Given the description of an element on the screen output the (x, y) to click on. 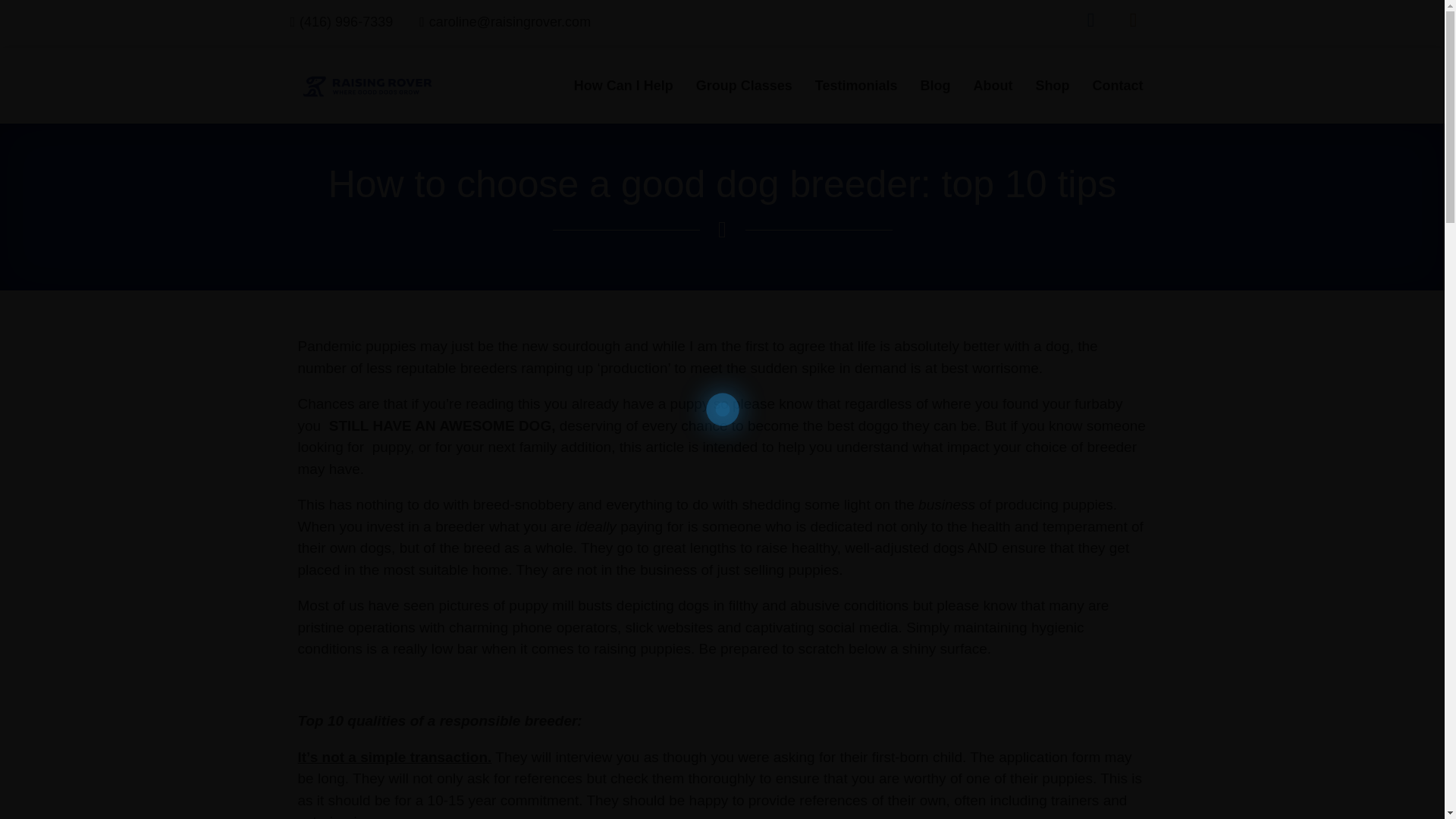
Shop (1051, 85)
Group Classes (743, 85)
How Can I Help (623, 85)
About (991, 85)
Testimonials (855, 85)
Blog (934, 85)
Contact (1117, 85)
